Given the description of an element on the screen output the (x, y) to click on. 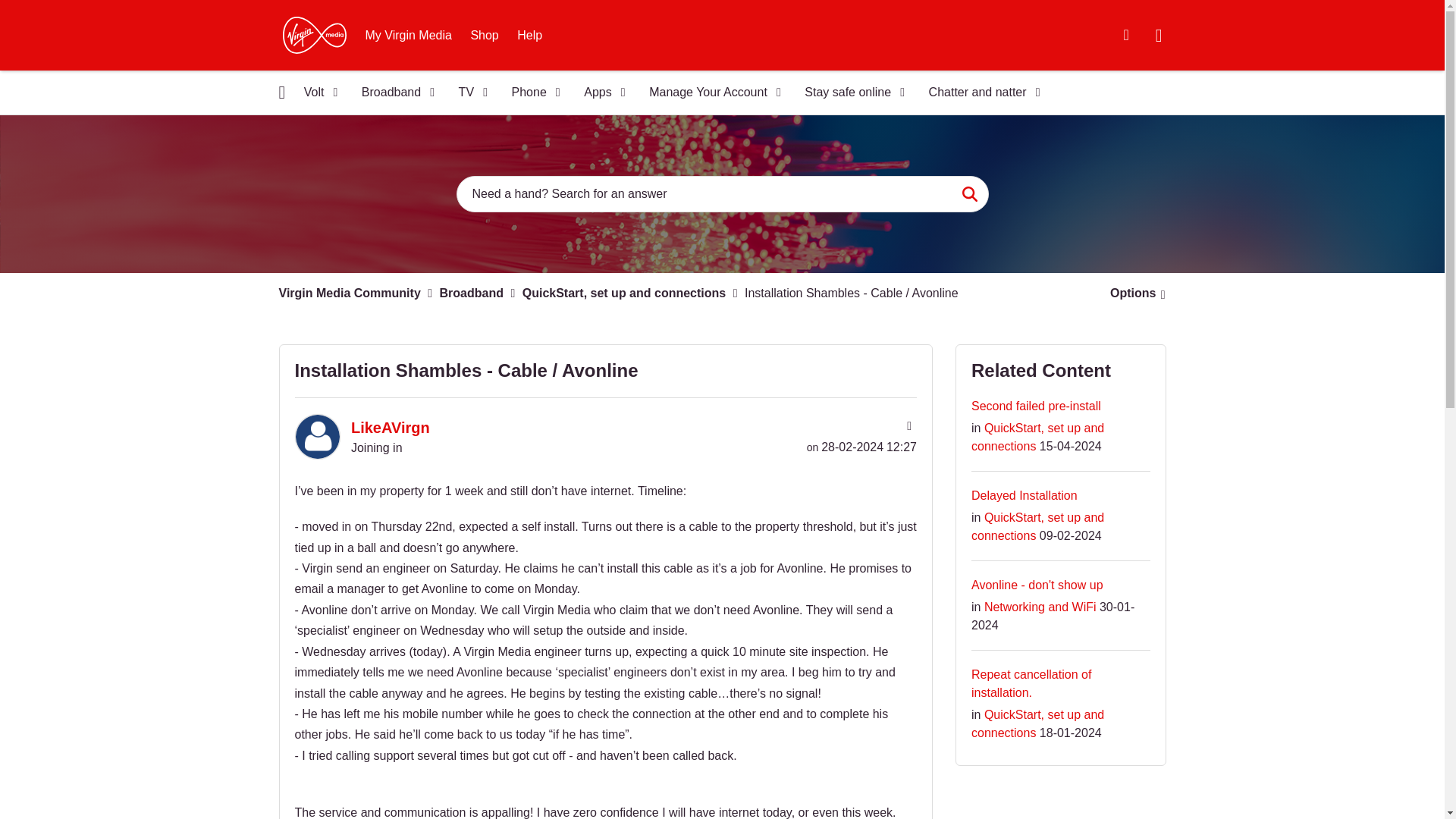
Stay safe online (849, 92)
Show option menu (1133, 293)
LikeAVirgn (316, 436)
My Virgin Media (409, 34)
Apps (599, 92)
Search (969, 193)
Search (969, 193)
TV (468, 92)
Virgin Media (314, 35)
Help (529, 34)
Shop (484, 34)
Phone (531, 92)
Volt (315, 92)
Search (722, 194)
Broadband (392, 92)
